Given the description of an element on the screen output the (x, y) to click on. 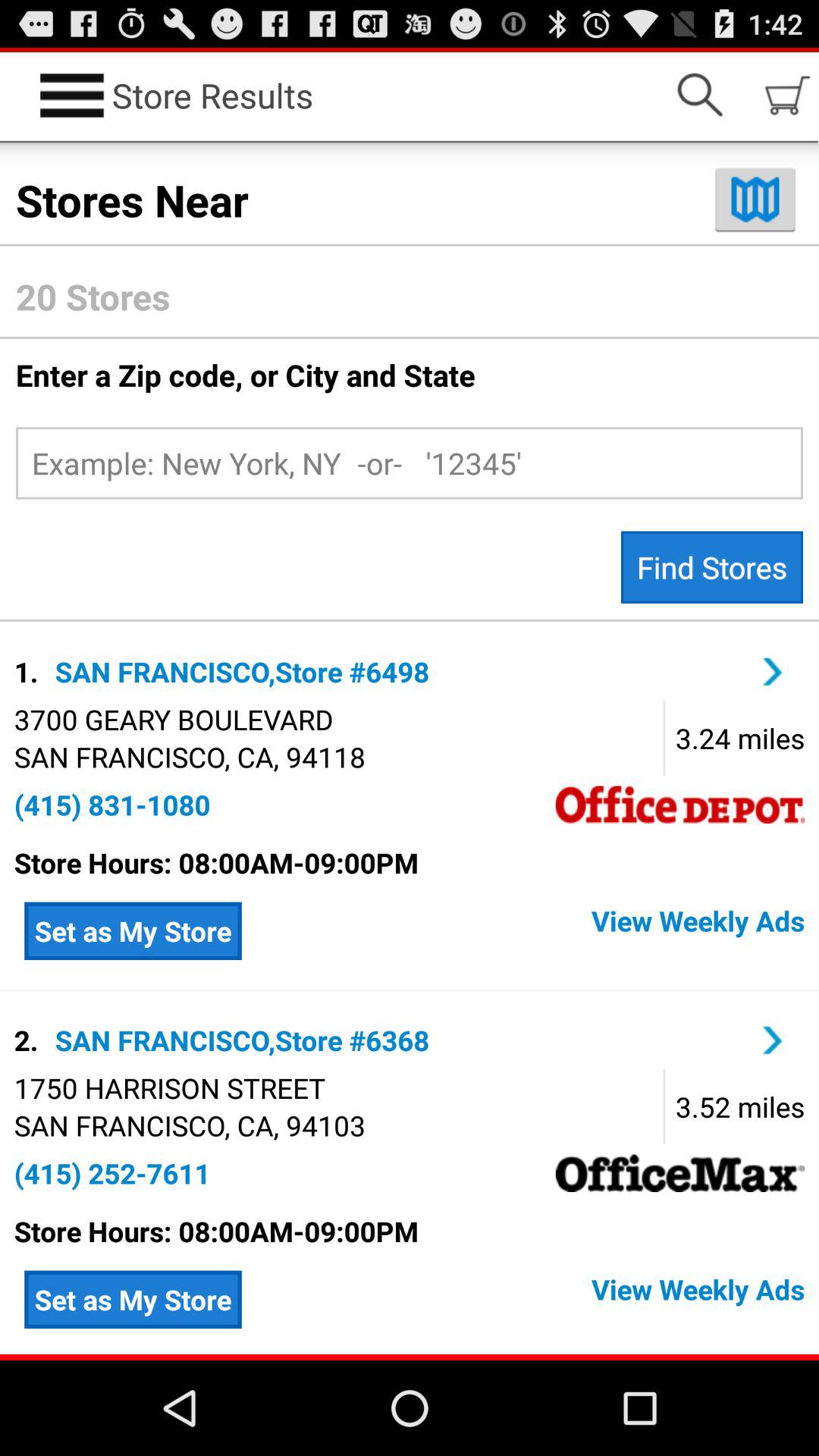
go to page (772, 671)
